Given the description of an element on the screen output the (x, y) to click on. 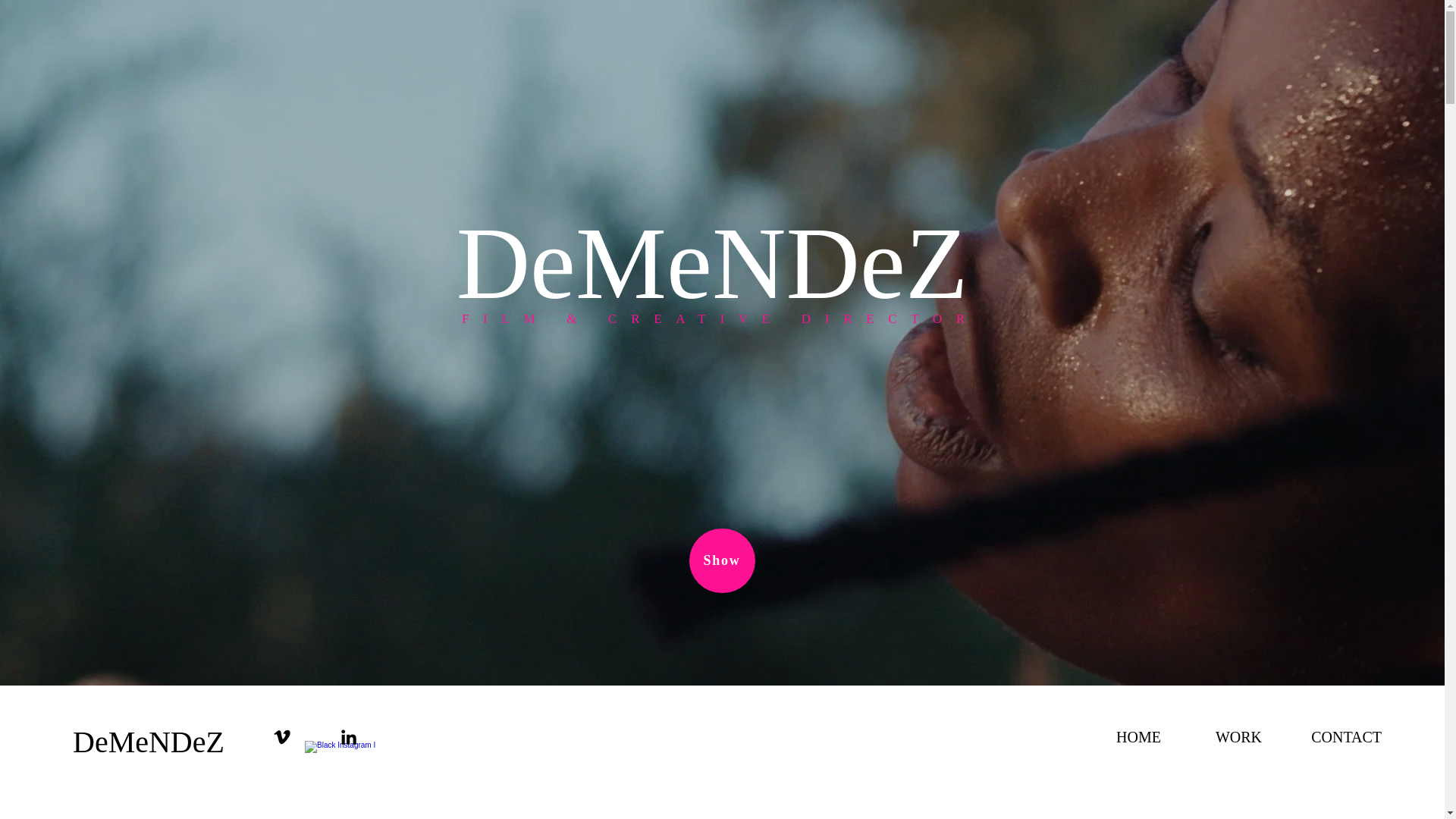
DeMeNDeZ (200, 742)
Show (721, 560)
HOME (1122, 736)
WORK (1222, 736)
CONTACT (1332, 736)
